Given the description of an element on the screen output the (x, y) to click on. 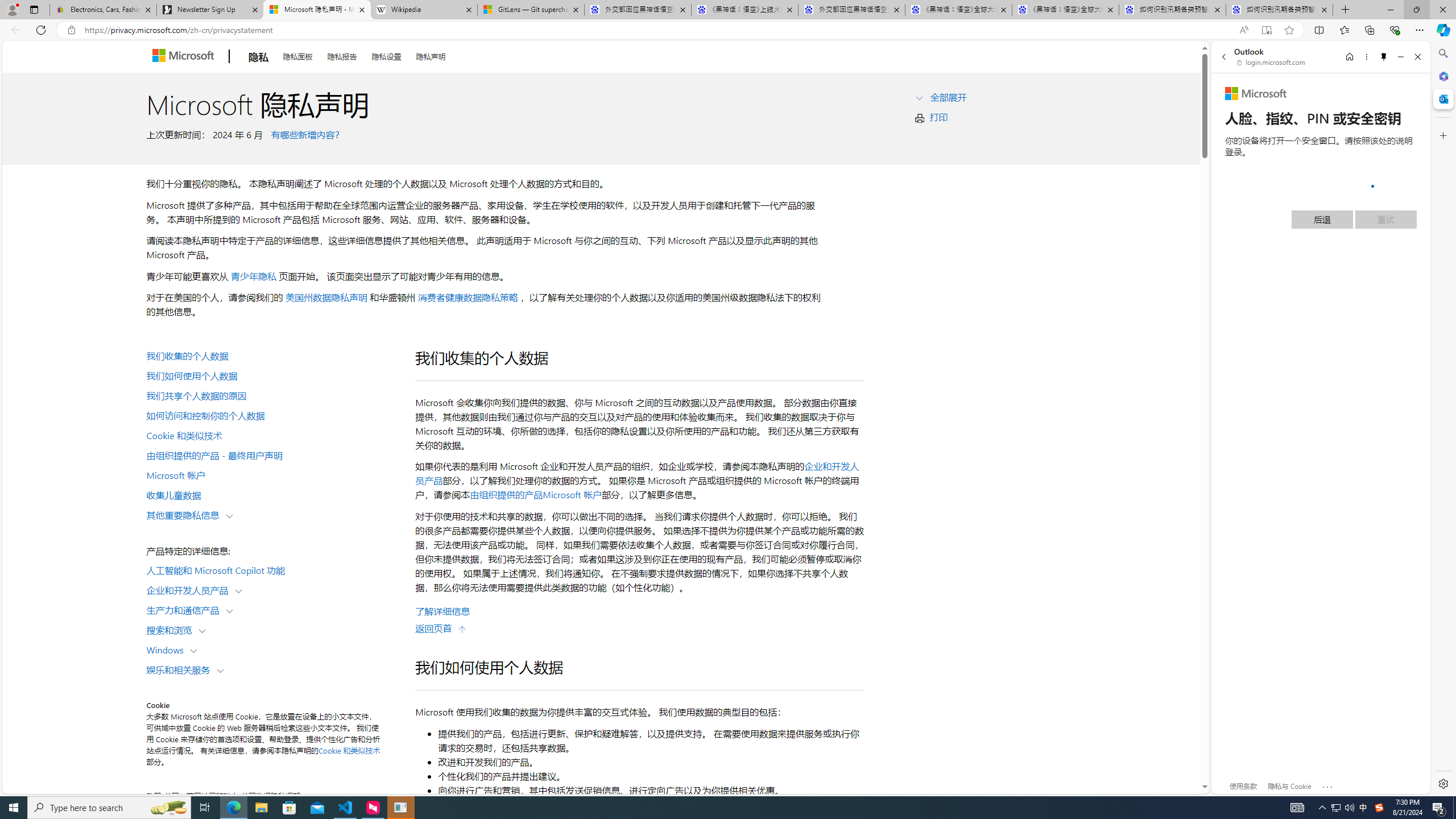
Newsletter Sign Up (209, 9)
